Given the description of an element on the screen output the (x, y) to click on. 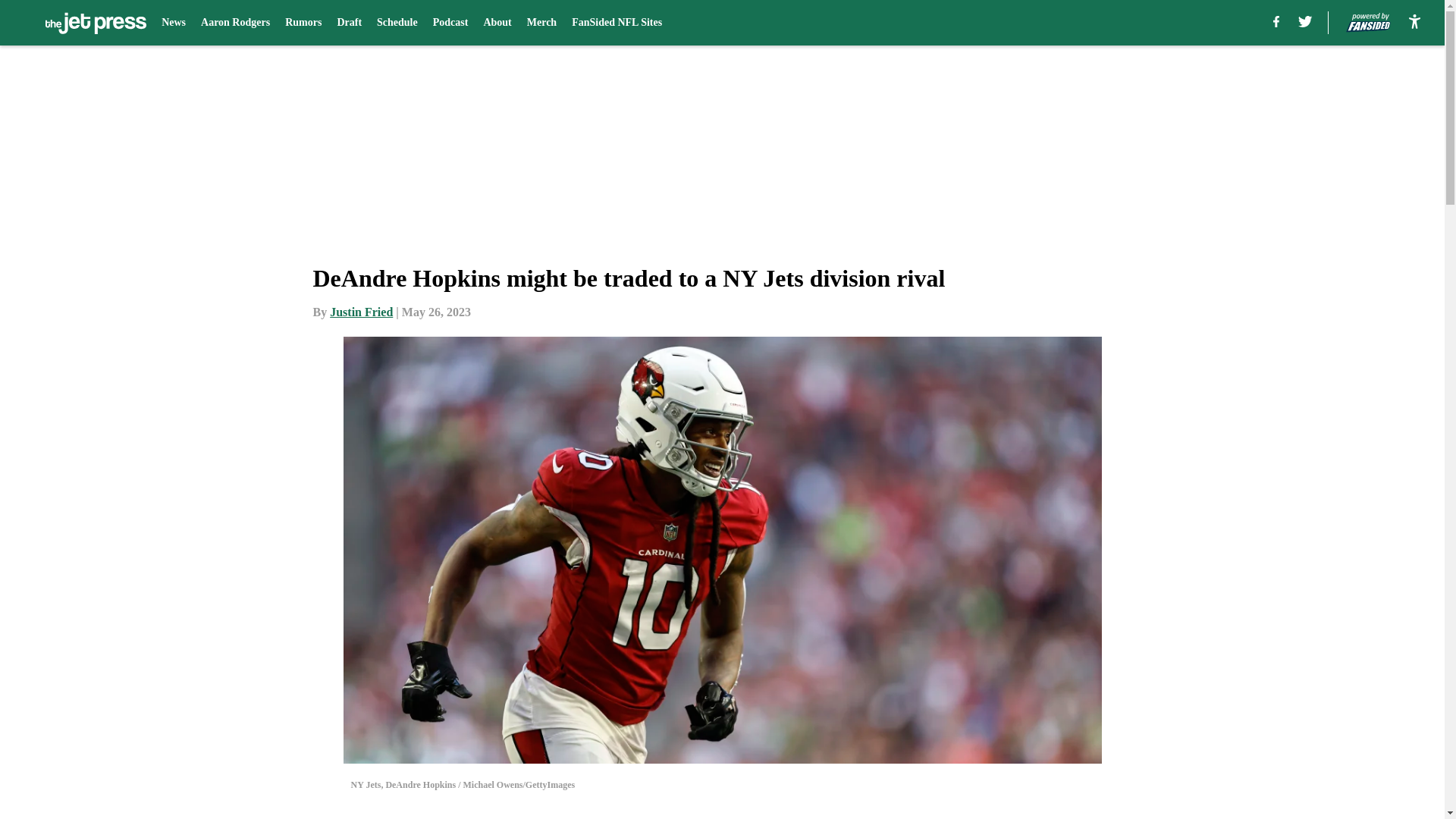
Aaron Rodgers (234, 22)
About (497, 22)
FanSided NFL Sites (617, 22)
Podcast (450, 22)
Justin Fried (361, 311)
News (173, 22)
Merch (541, 22)
Rumors (303, 22)
Schedule (397, 22)
Draft (348, 22)
